Given the description of an element on the screen output the (x, y) to click on. 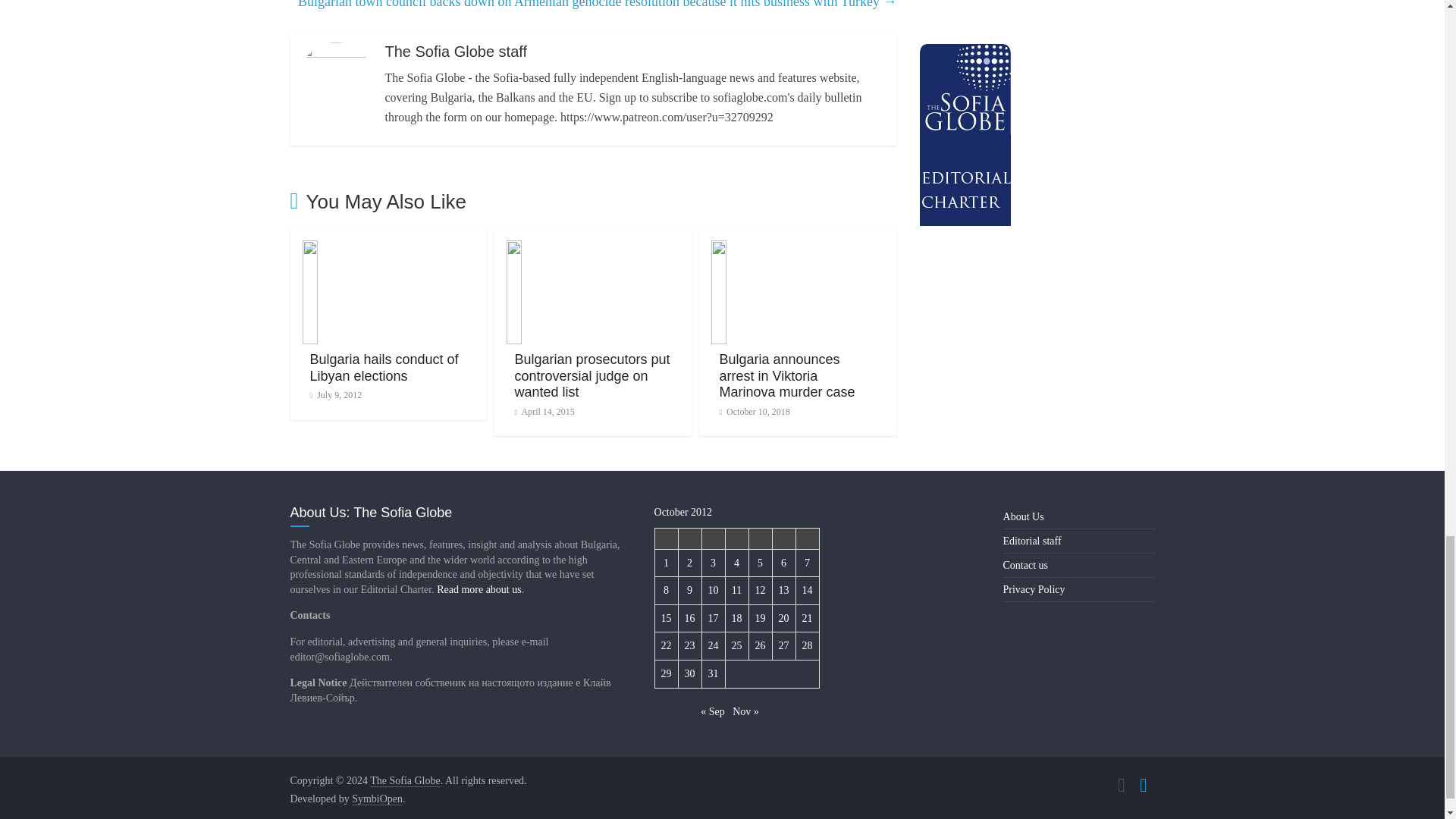
Bulgaria hails conduct of Libyan elections (387, 249)
October 10, 2018 (754, 411)
Bulgaria hails conduct of Libyan elections (383, 368)
3:27 PM (543, 411)
Bulgarian prosecutors put controversial judge on wanted list (591, 375)
Bulgarian prosecutors put controversial judge on wanted list (591, 375)
July 9, 2012 (334, 394)
April 14, 2015 (543, 411)
Bulgaria announces arrest in Viktoria Marinova murder case (786, 375)
1:44 PM (334, 394)
